Given the description of an element on the screen output the (x, y) to click on. 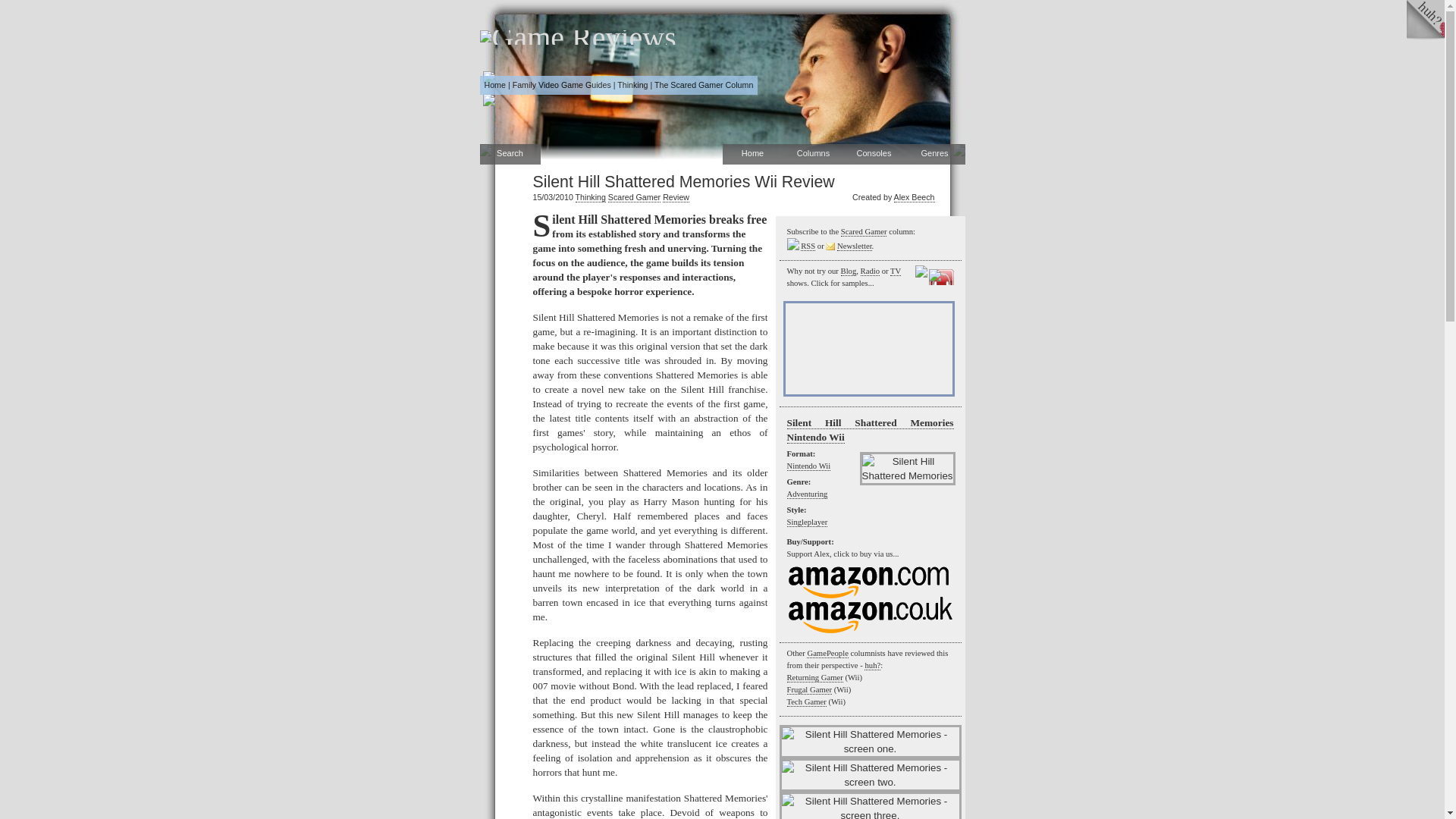
Search (509, 154)
Thinking (632, 84)
Thinking (590, 197)
Breadcrumb Trail (618, 85)
Silent Hill Shattered Memories - screen two. (869, 774)
Column (702, 84)
Home (494, 84)
Silent Hill Shattered Memories - screen three. (869, 805)
Alex Beech (913, 197)
Scared Gamer (634, 197)
